Given the description of an element on the screen output the (x, y) to click on. 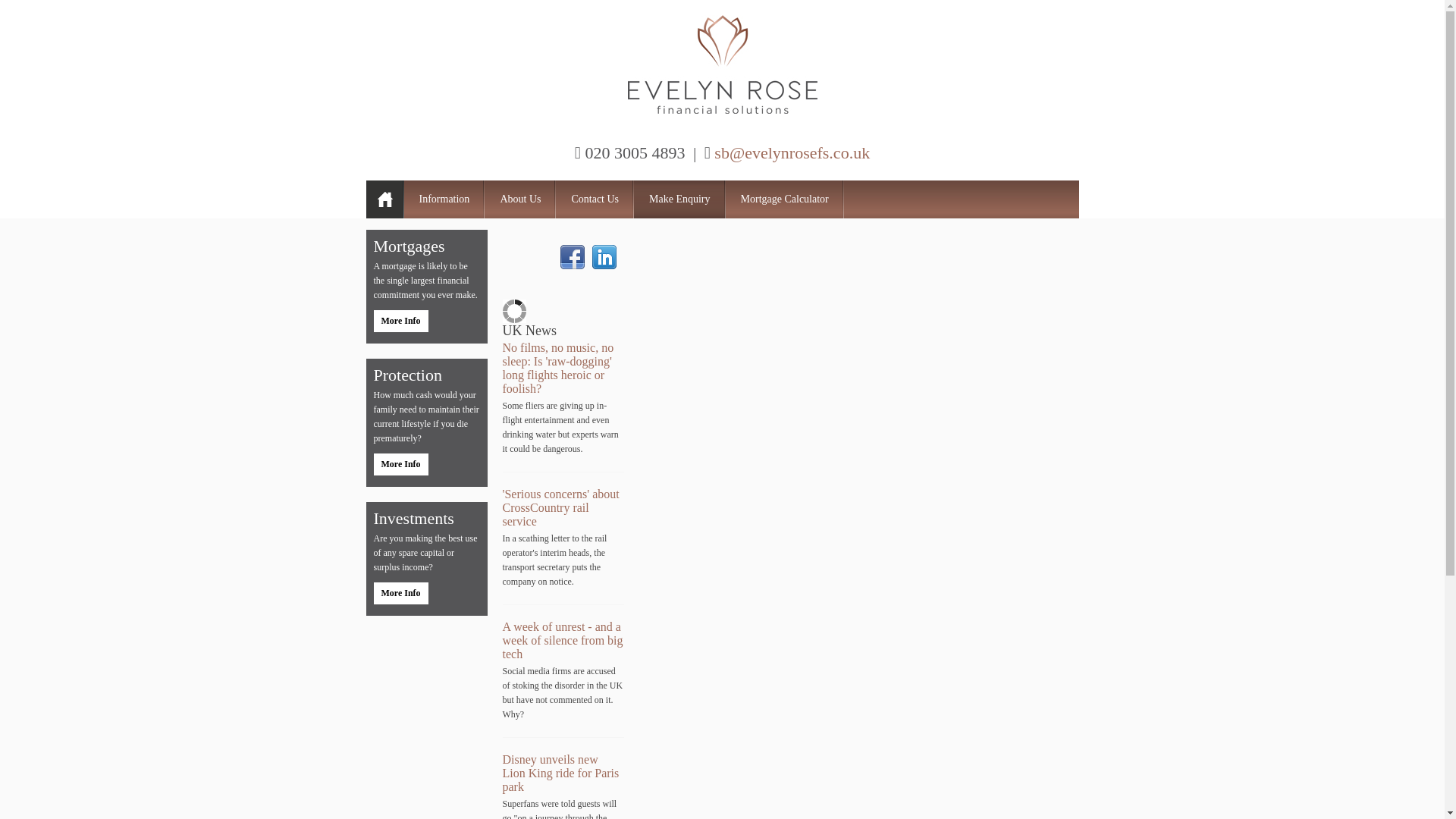
'Serious concerns' about CrossCountry rail service (560, 507)
Disney unveils new Lion King ride for Paris park (560, 772)
Facebook (571, 256)
Linked In (603, 256)
More Info (400, 464)
Home (384, 199)
Mortgage Calculator (784, 199)
